Given the description of an element on the screen output the (x, y) to click on. 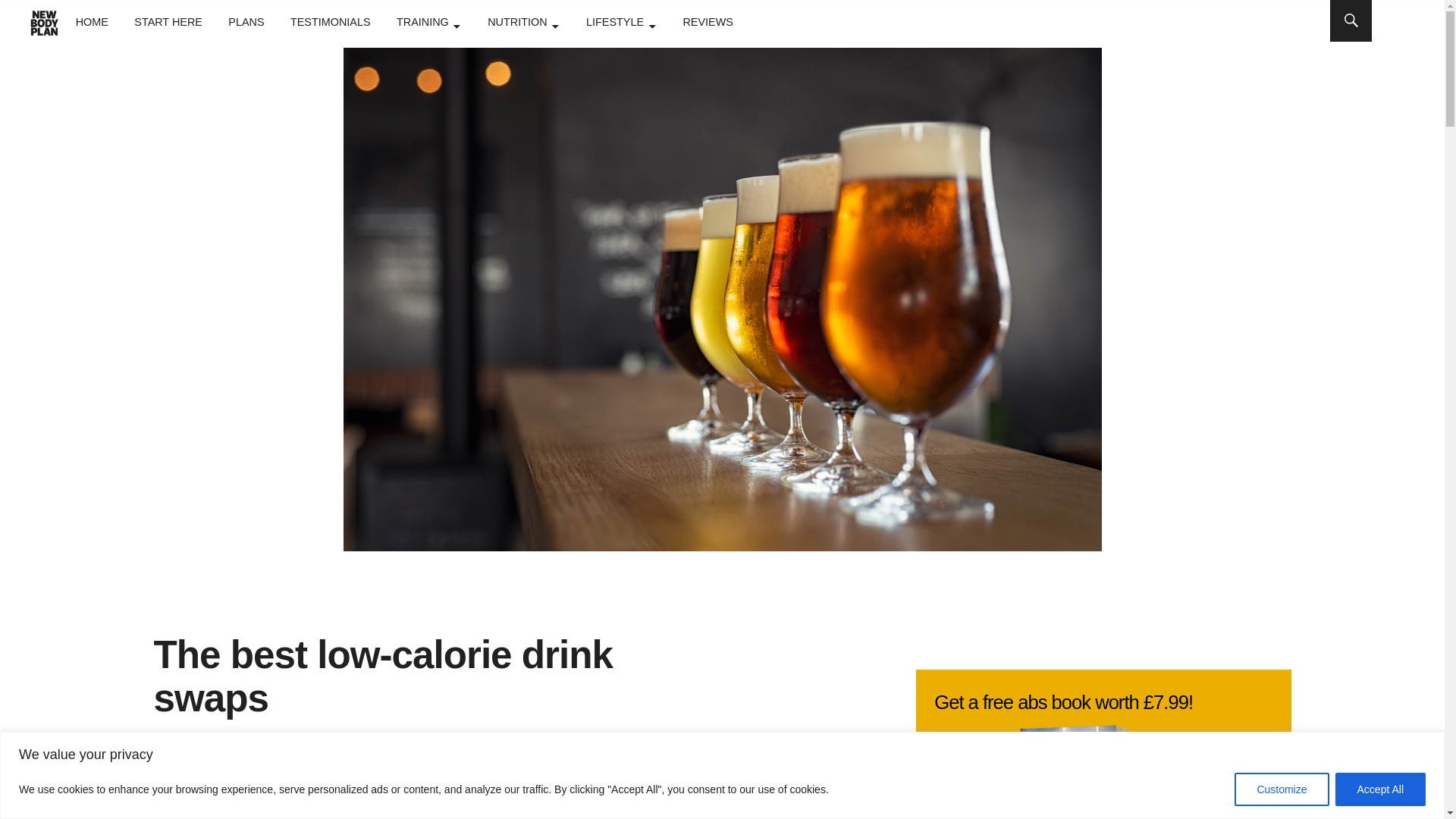
PLANS (245, 21)
START HERE (167, 21)
Customize (1280, 788)
TRAINING (428, 21)
TESTIMONIALS (330, 21)
LIFESTYLE (621, 21)
NUTRITION (523, 21)
HOME (91, 21)
Accept All (1380, 788)
